Given the description of an element on the screen output the (x, y) to click on. 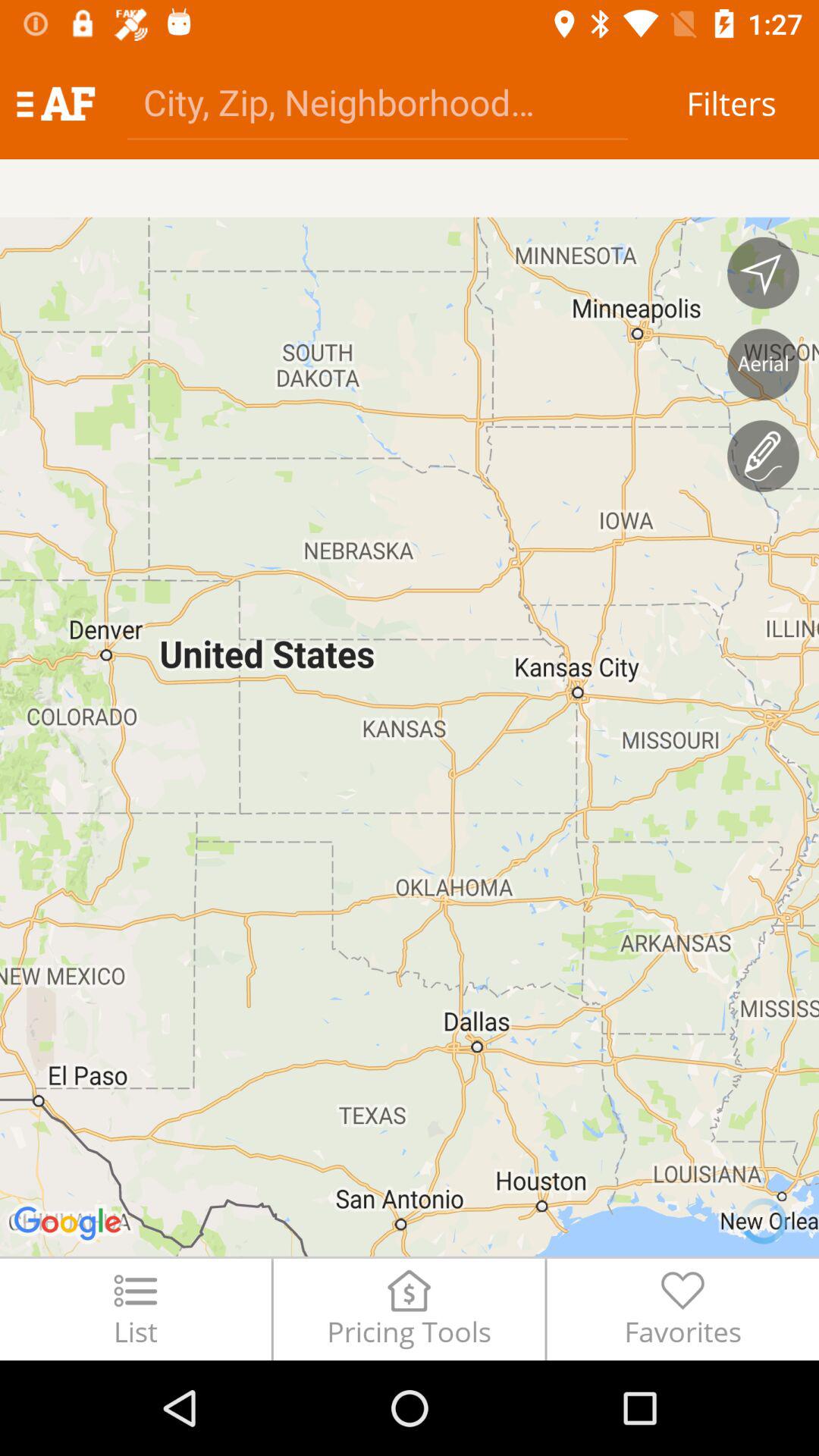
change the map orientation (763, 272)
